Given the description of an element on the screen output the (x, y) to click on. 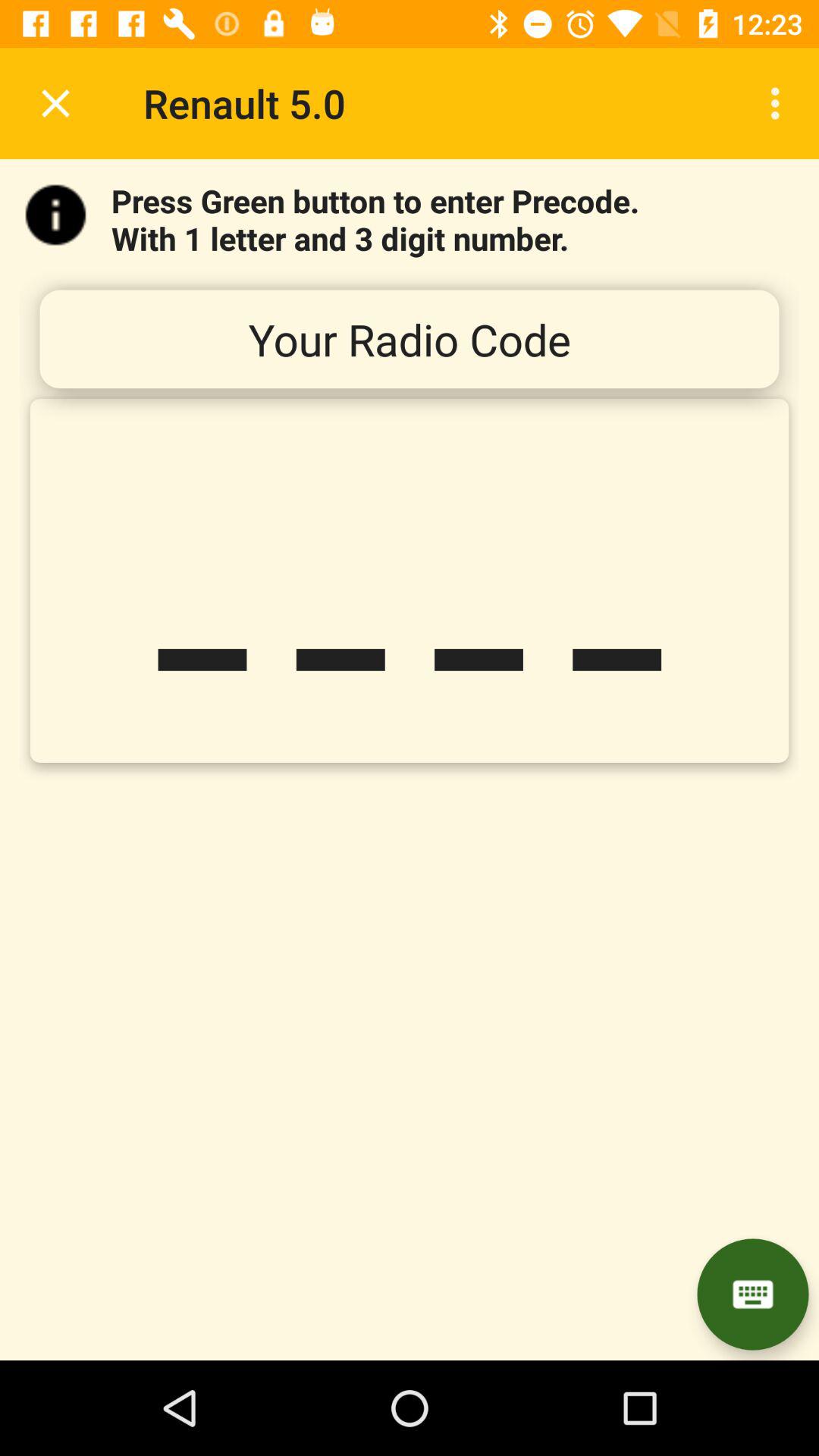
select the icon to the right of renault 5.0 (779, 103)
